Given the description of an element on the screen output the (x, y) to click on. 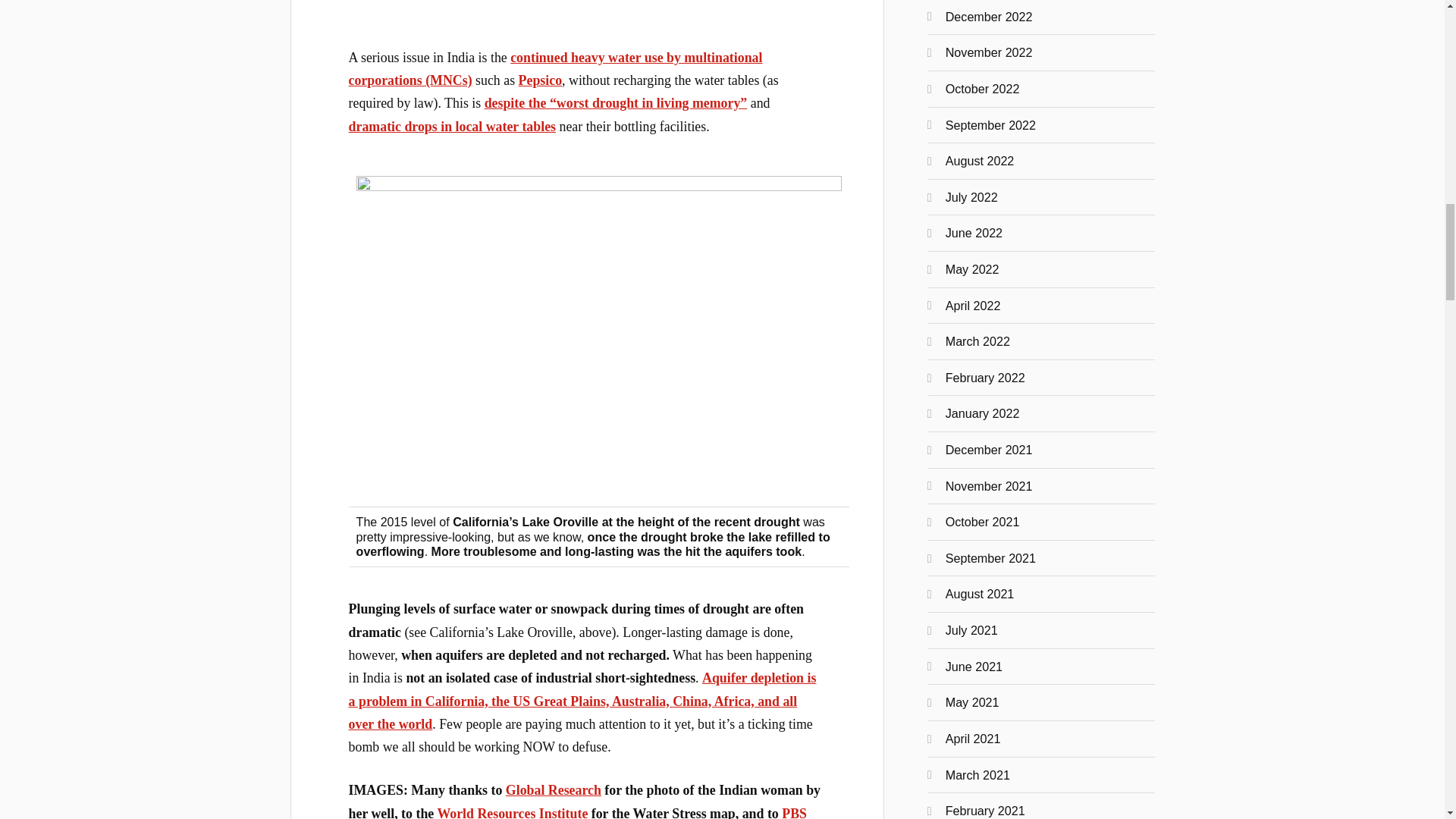
World Resources Institute (512, 812)
dramatic drops in local water tables (452, 126)
Global Research (553, 789)
Pepsico (540, 79)
PBS NewsHour (577, 812)
